Given the description of an element on the screen output the (x, y) to click on. 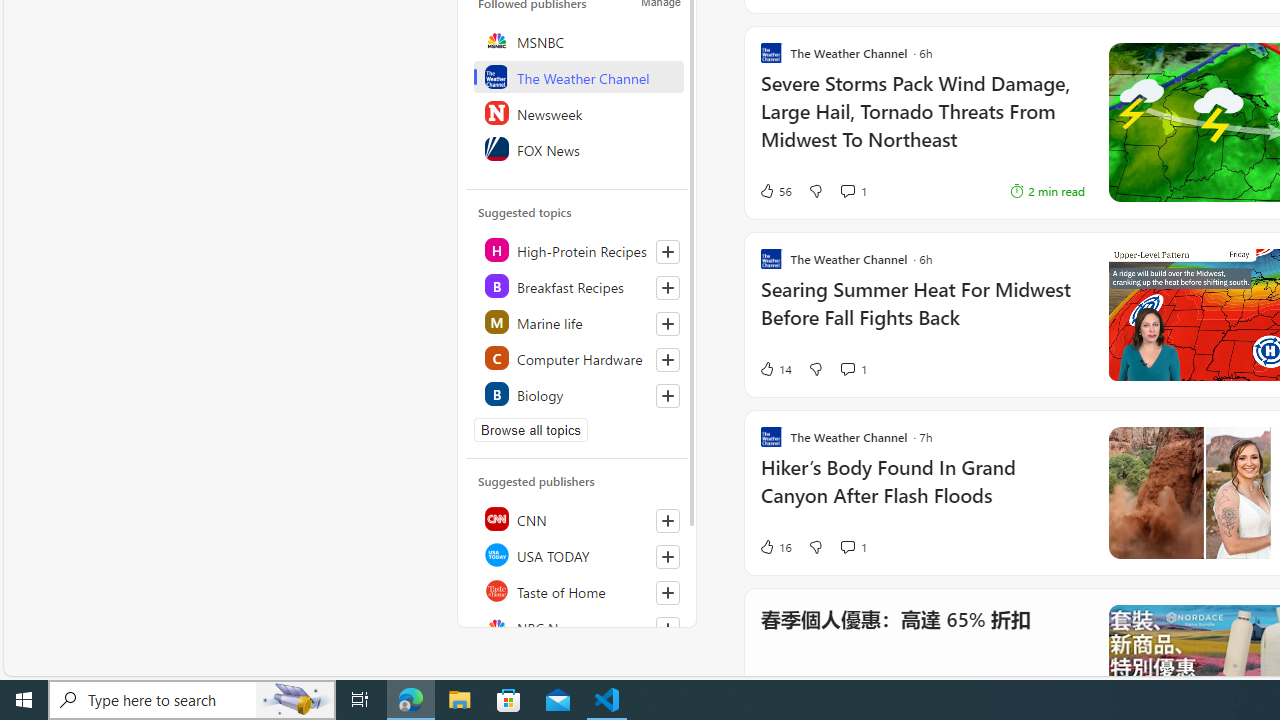
56 Like (775, 191)
Follow this topic (667, 395)
The Weather Channel (578, 76)
Taste of Home (578, 590)
Browse all topics (530, 430)
USA TODAY (578, 554)
16 Like (775, 546)
FOX News (578, 148)
NBC News (578, 626)
Class: highlight (578, 393)
